Given the description of an element on the screen output the (x, y) to click on. 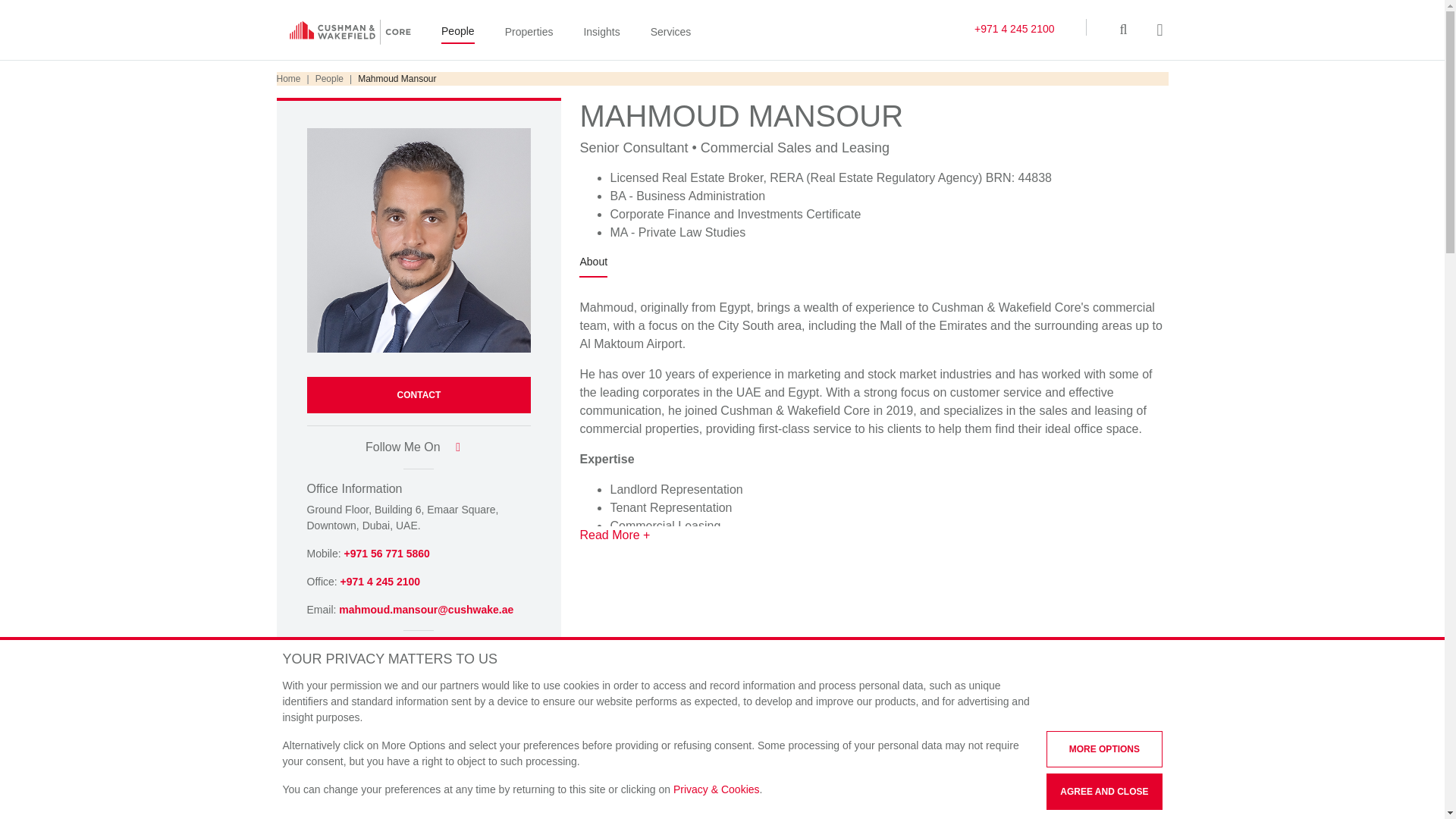
Download VCard (351, 650)
Home (287, 78)
Mahmoud Mansour (340, 747)
Clients (548, 747)
Properties (529, 33)
Cushman and Wakefield Logo (350, 31)
People (457, 32)
People (329, 78)
Testimonals (622, 747)
Services (670, 33)
CONTACT (418, 394)
My Listings (474, 747)
About (593, 265)
Insights (601, 33)
